Given the description of an element on the screen output the (x, y) to click on. 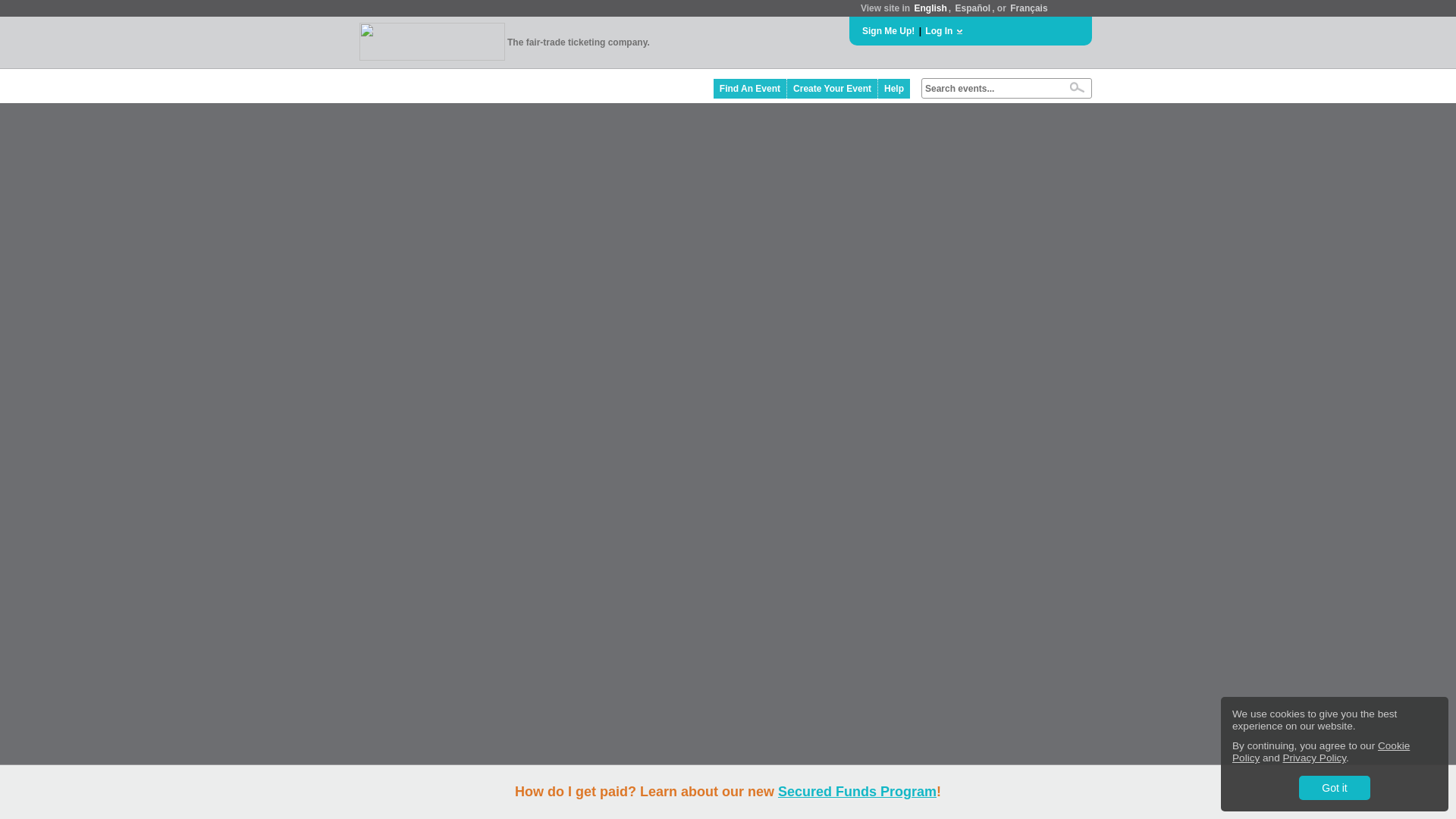
Find An Event (750, 88)
Search Events (1076, 86)
Search events... (991, 88)
Sign Me Up! (887, 30)
English (929, 8)
Help (893, 88)
Create Your Event (832, 88)
Log In (938, 30)
